Given the description of an element on the screen output the (x, y) to click on. 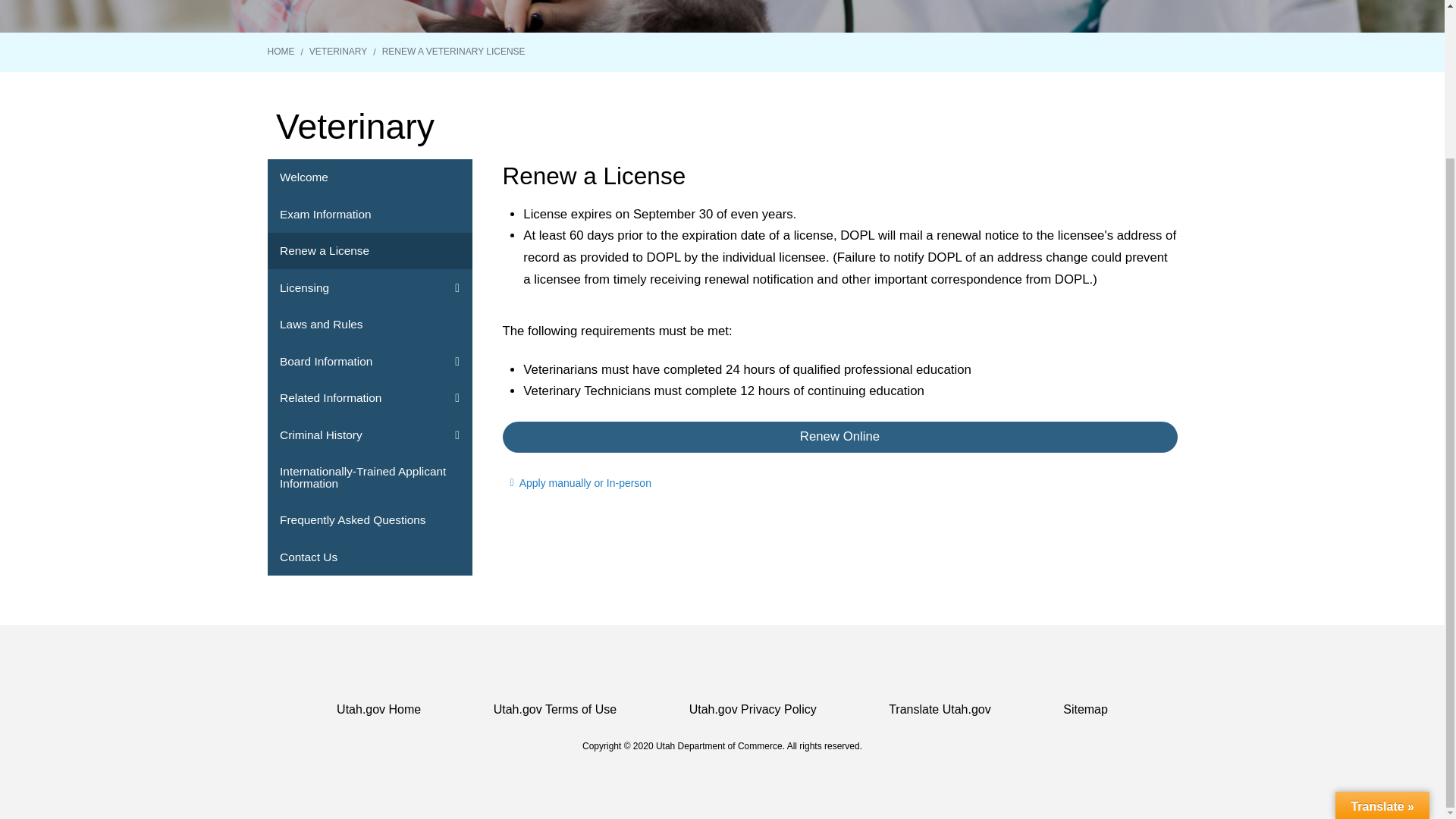
VETERINARY (337, 51)
Welcome (368, 177)
You Are Here (453, 51)
RENEW A VETERINARY LICENSE (453, 51)
Exam Information (368, 213)
Renew a License (368, 251)
HOME (280, 51)
